Given the description of an element on the screen output the (x, y) to click on. 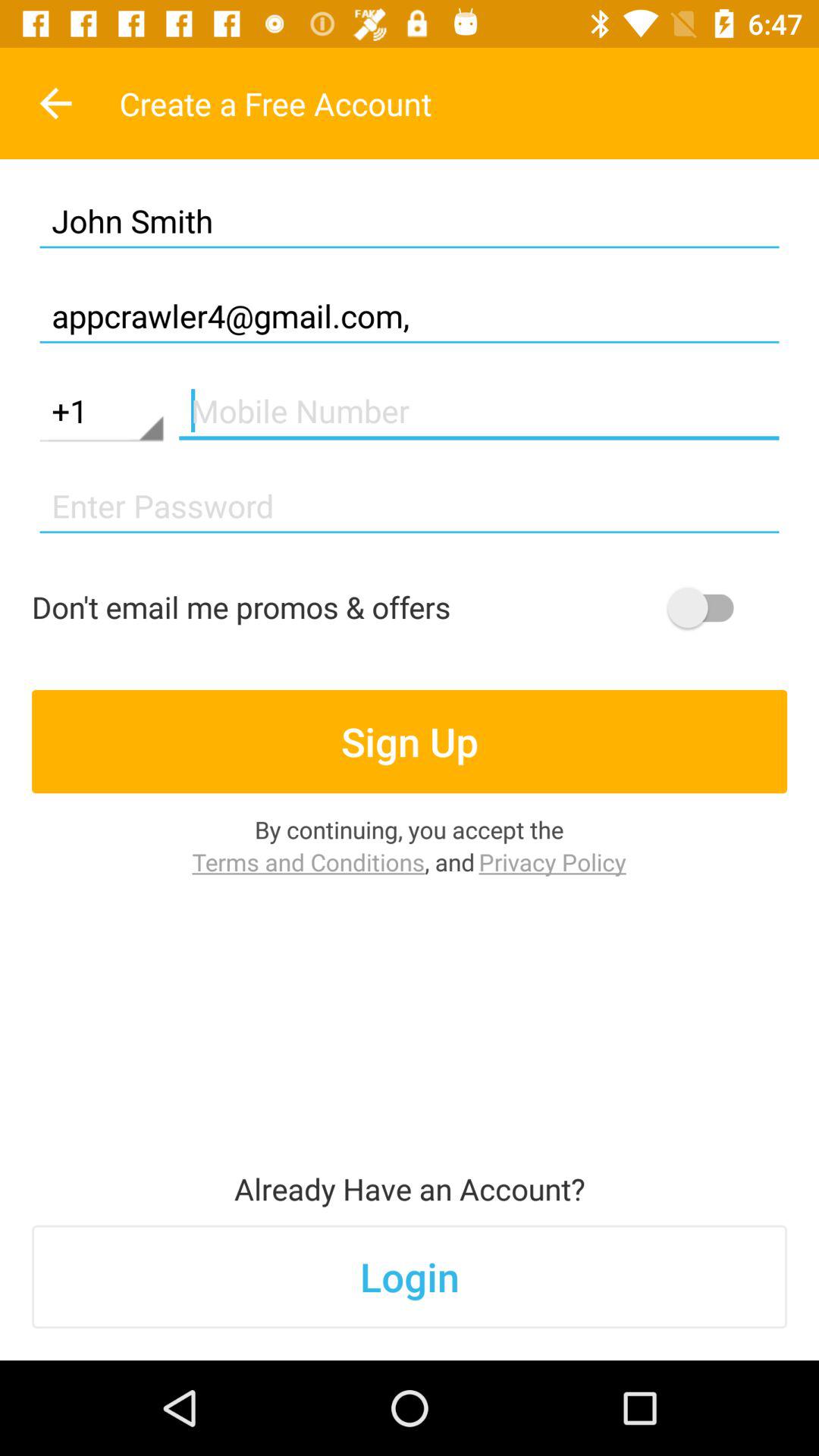
toggle email promos (708, 607)
